Given the description of an element on the screen output the (x, y) to click on. 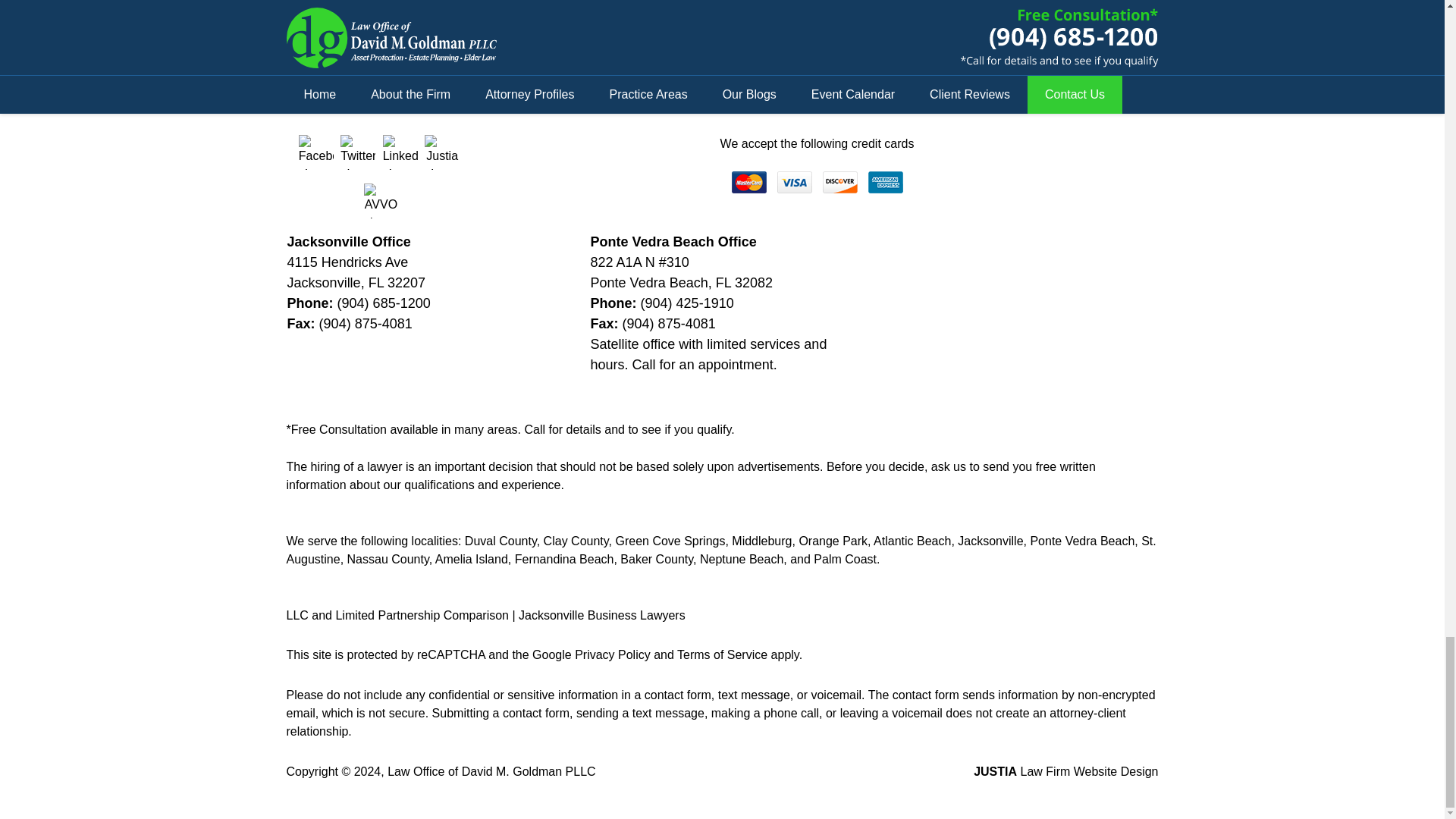
Twitter (357, 152)
LinkedIn (399, 152)
AVVO (381, 200)
Facebook (315, 152)
Justia (442, 152)
